Given the description of an element on the screen output the (x, y) to click on. 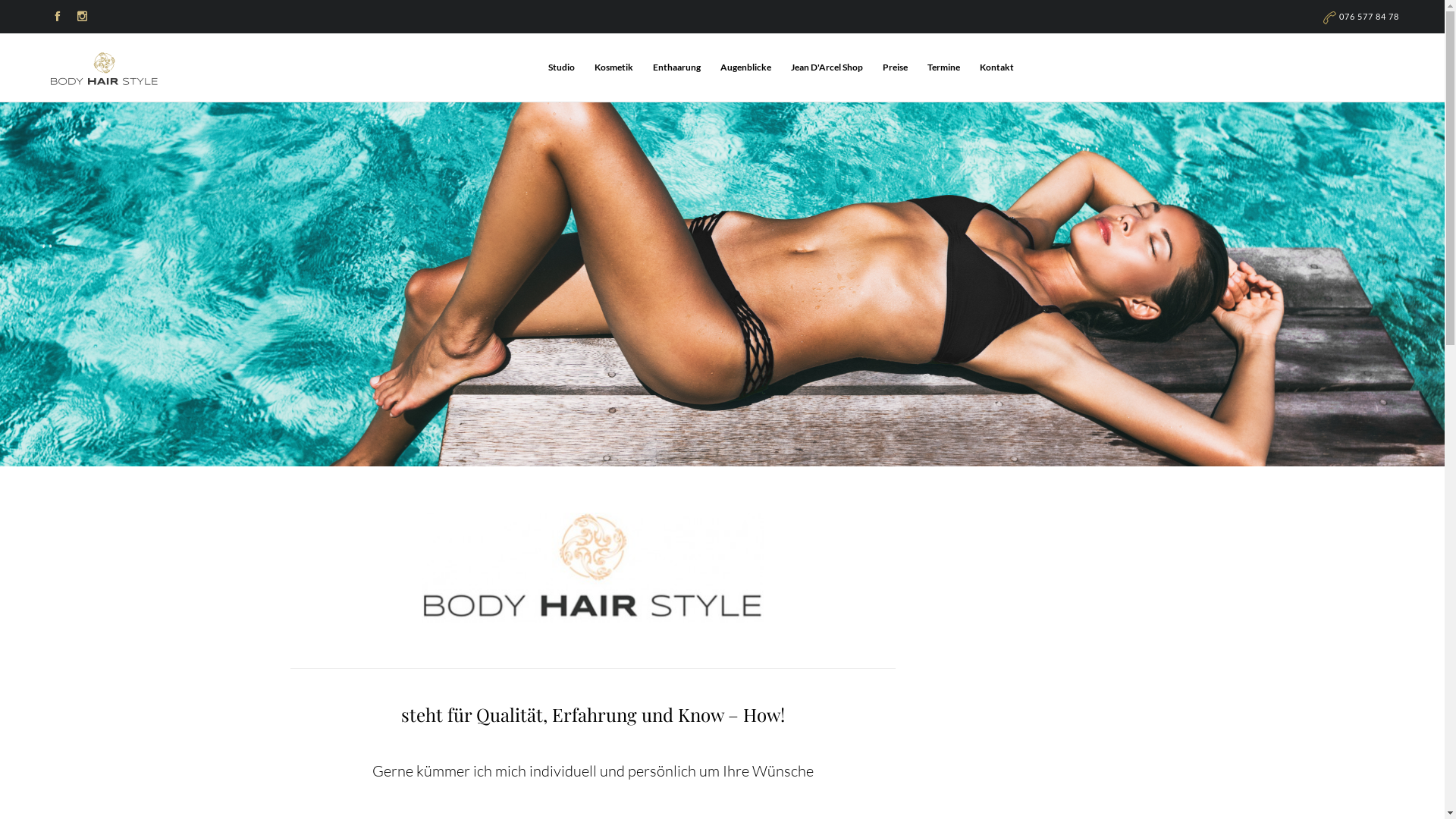
Enthaarung Element type: text (678, 67)
info@body-hair-style.ch Element type: text (721, 733)
Augenblicke Element type: text (747, 67)
Body Hair Style Element type: text (107, 791)
Sichtbar Online Marketing AG Element type: text (209, 791)
Datenschutz Element type: text (1373, 791)
Skip to content Element type: text (1020, 51)
Jean D'Arcel Shop Element type: text (829, 67)
body-hair-style Element type: hover (104, 69)
Impressum Element type: text (1319, 791)
Studio Element type: text (563, 67)
Preise Element type: text (897, 67)
AGB Element type: text (1279, 791)
Termine Element type: text (945, 67)
Kontakt Element type: text (996, 67)
Kosmetik Element type: text (615, 67)
